Given the description of an element on the screen output the (x, y) to click on. 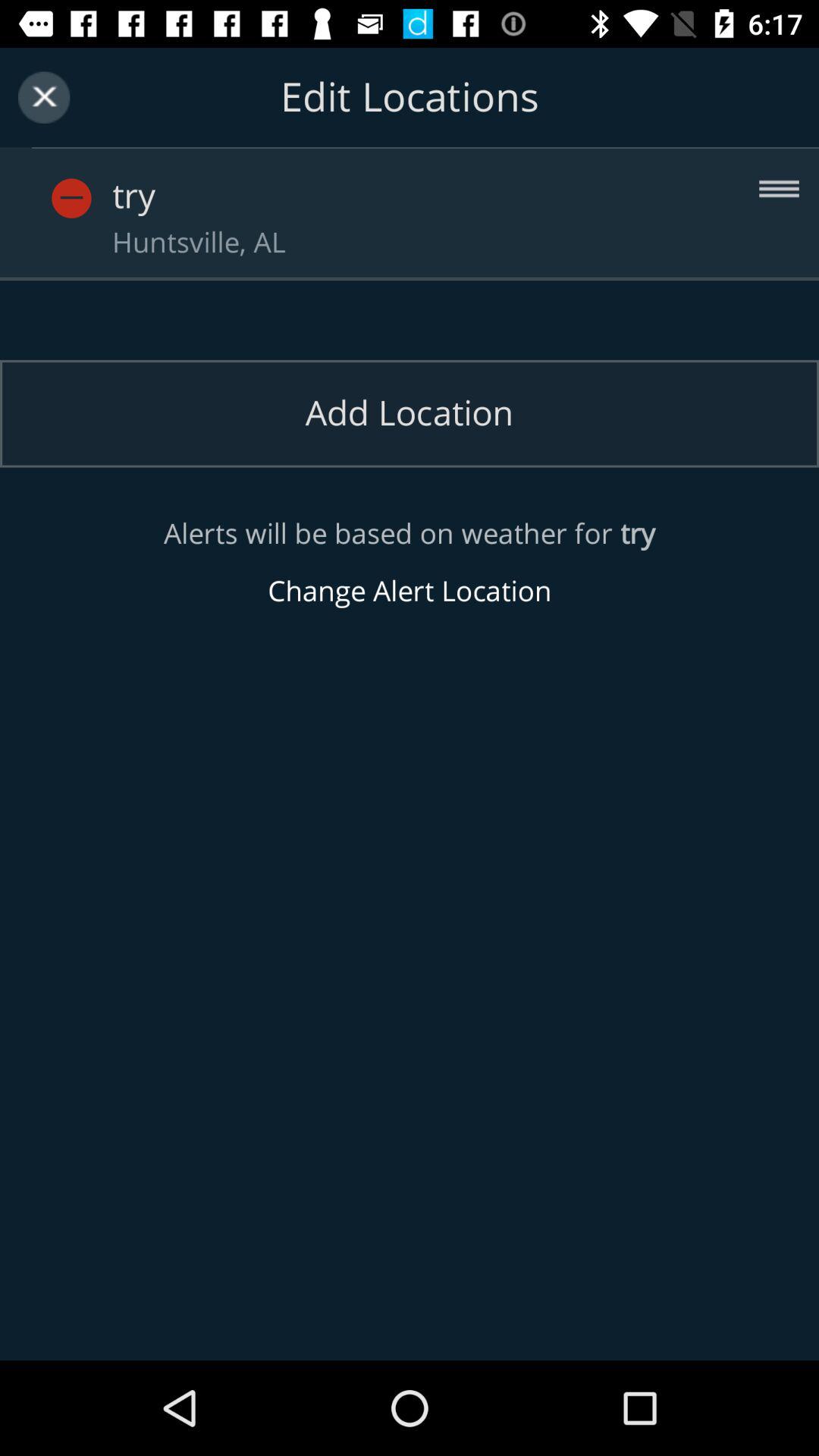
choose the alerts will be item (409, 562)
